Given the description of an element on the screen output the (x, y) to click on. 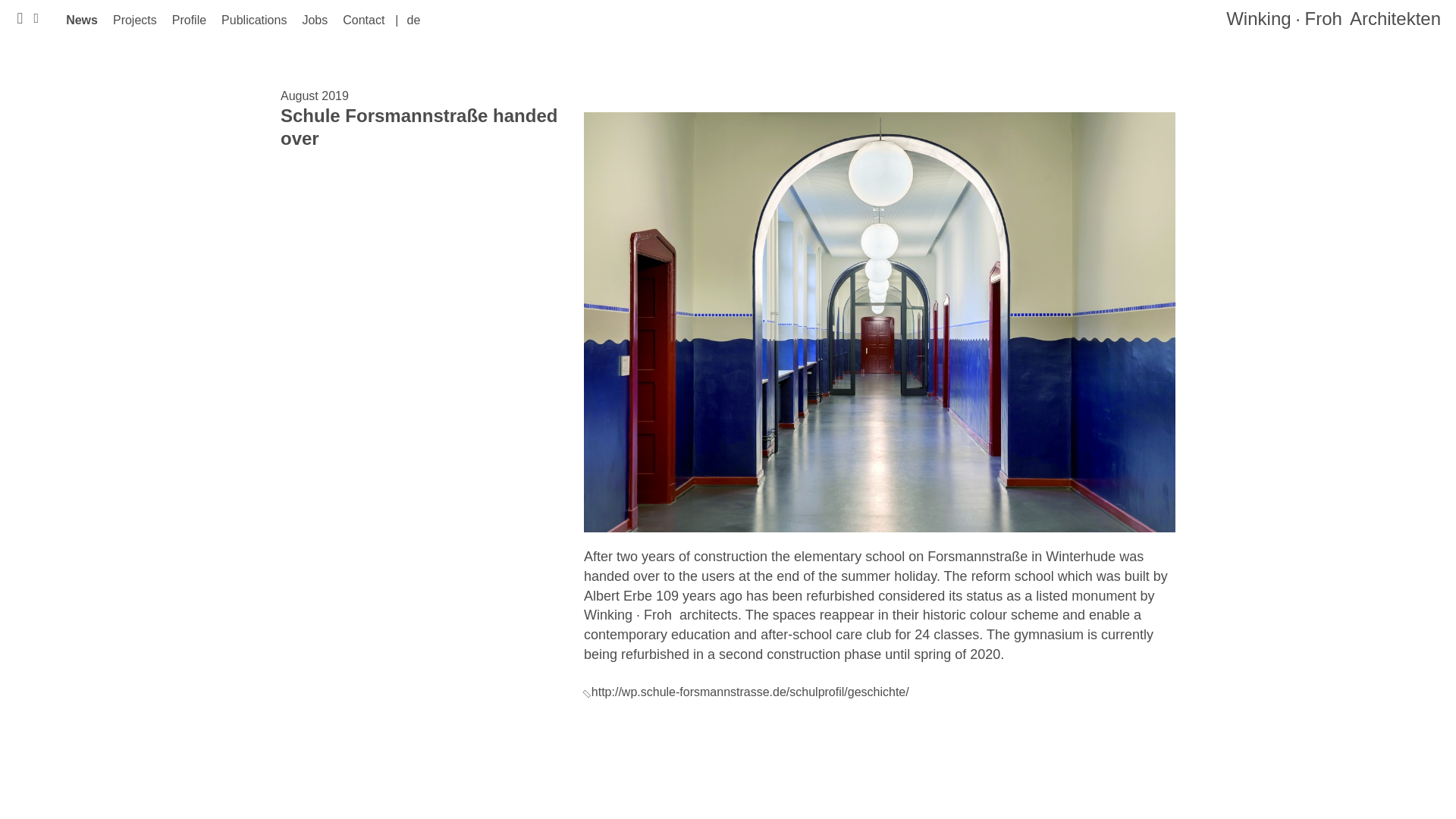
Projects (134, 20)
Search (277, 30)
Jobs (314, 20)
Profile (189, 20)
de (413, 20)
News (81, 20)
Publications (254, 20)
Contact (362, 20)
